Given the description of an element on the screen output the (x, y) to click on. 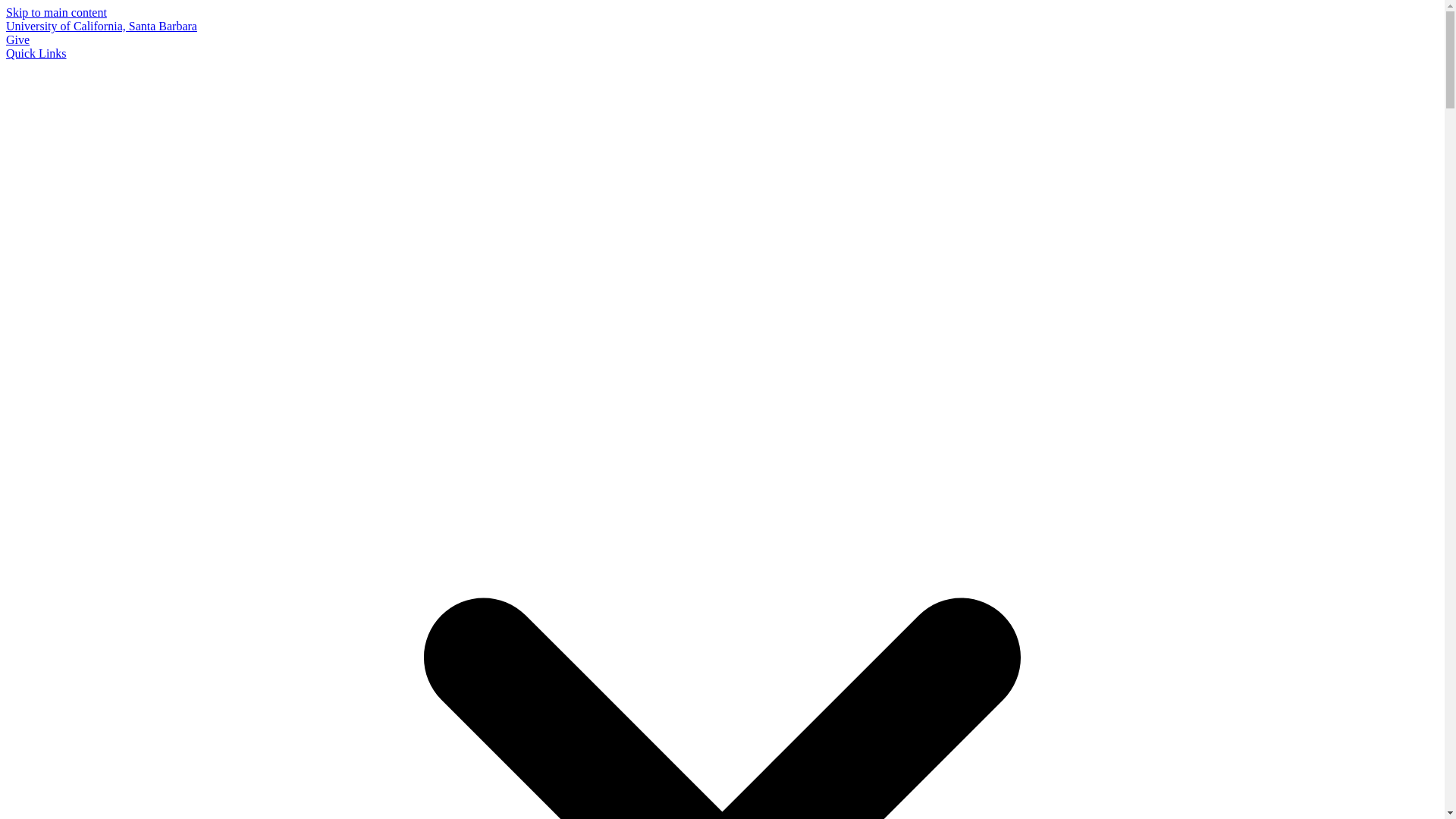
University of California, Santa Barbara (100, 25)
Give (17, 39)
Quick Links (35, 52)
Skip to main content (55, 11)
